Given the description of an element on the screen output the (x, y) to click on. 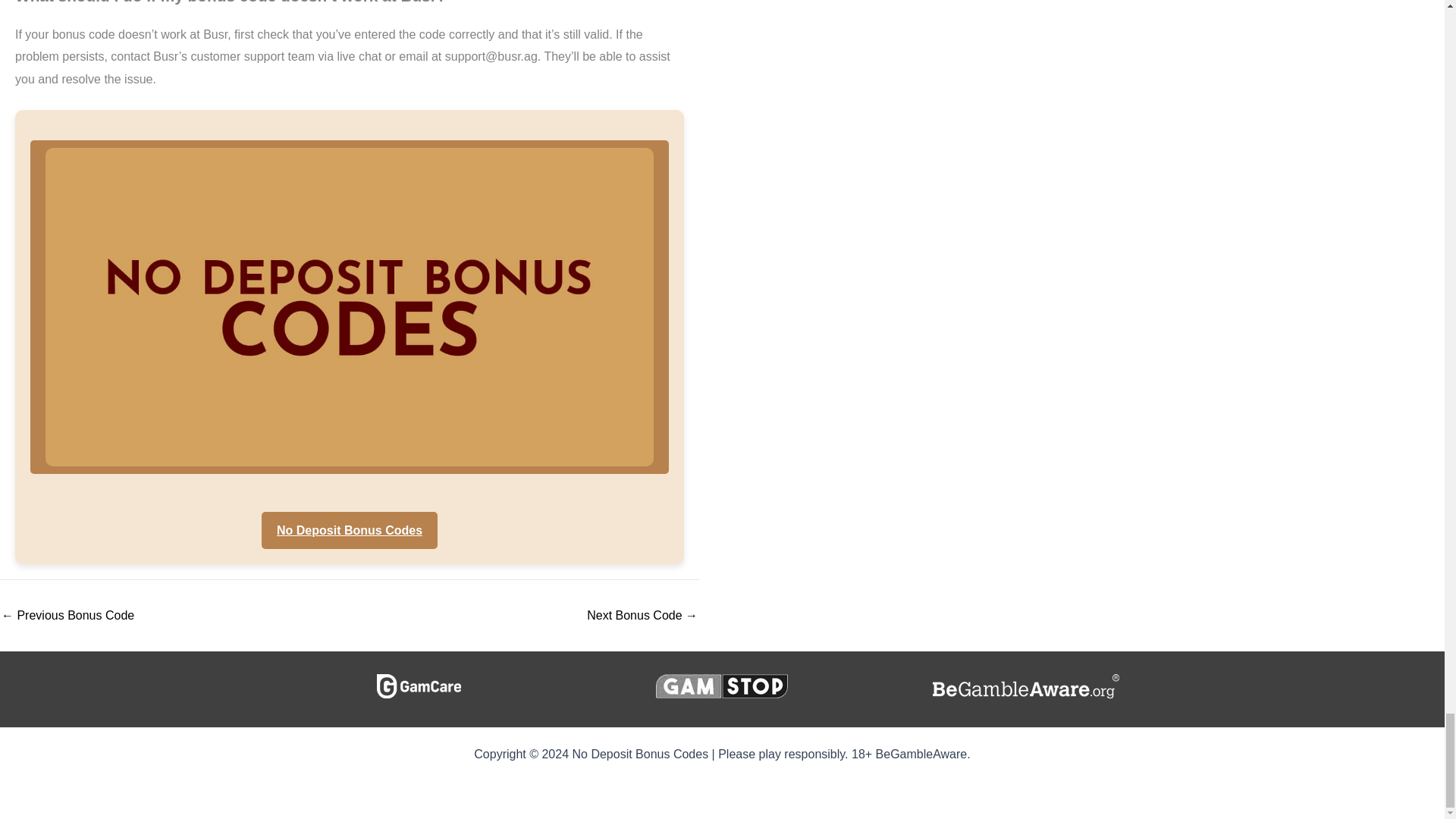
Desert Nights Casino (641, 615)
BetiBet (67, 615)
